Given the description of an element on the screen output the (x, y) to click on. 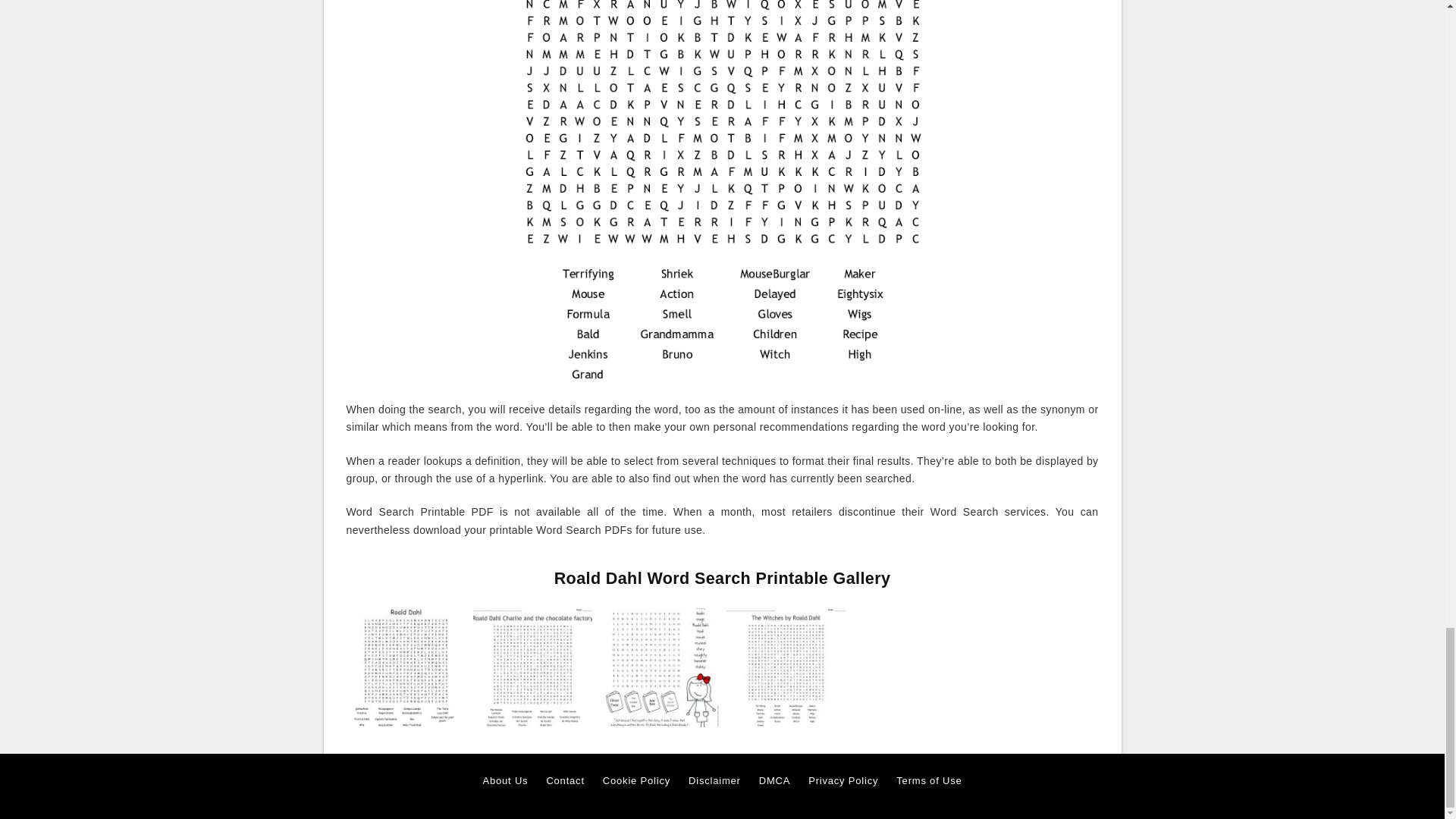
Privacy Policy (842, 781)
Roald Dahl Word Search   Wordmint (405, 667)
The Witchesroald Dahl Word Search   Wordmint (785, 666)
Terms of Use (928, 781)
Contact (564, 781)
DMCA (774, 781)
The Witchesroald Dahl Word Search   Wordmint (785, 667)
Roald Dahl Charlie And The Chocolate Factory Word Search (532, 666)
60 Beste Afbeeldingen Van Roald Dahl   Roald Dahl (657, 667)
Disclaimer (714, 781)
Cookie Policy (635, 781)
Roald Dahl Word Search   Wordmint (405, 666)
60 Beste Afbeeldingen Van Roald Dahl   Roald Dahl (657, 666)
Roald Dahl Charlie And The Chocolate Factory Word Search (532, 667)
About Us (505, 781)
